Given the description of an element on the screen output the (x, y) to click on. 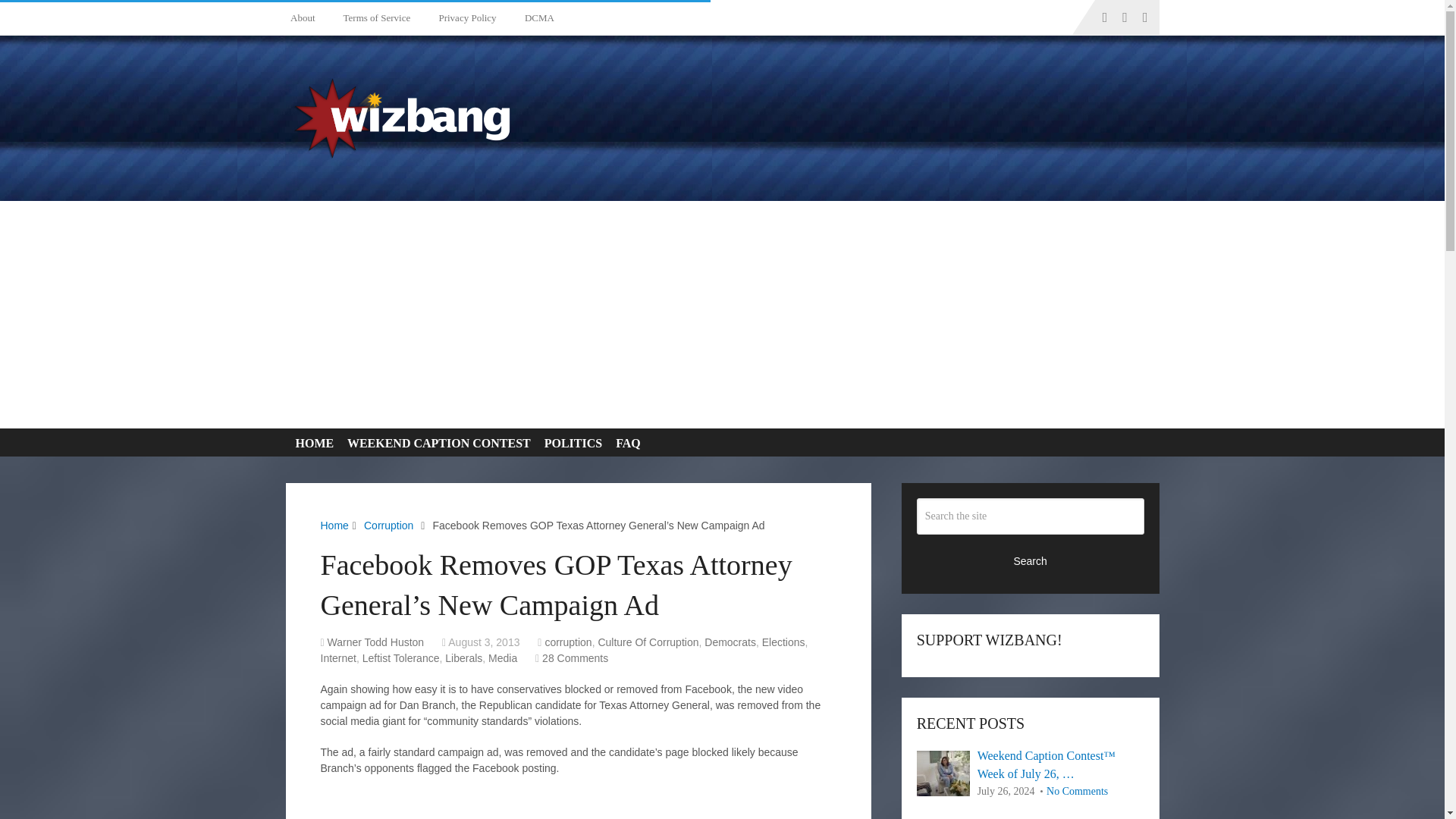
Internet (337, 657)
Liberals (463, 657)
View all posts in Internet (337, 657)
View all posts in Elections (783, 642)
View all posts in Culture Of Corruption (647, 642)
View all posts in corruption (567, 642)
Corruption (388, 525)
About (305, 17)
Culture Of Corruption (647, 642)
Elections (783, 642)
Privacy Policy (464, 17)
POLITICS (569, 443)
View all posts in Leftist Tolerance (400, 657)
Posts by Warner Todd Huston (376, 642)
View all posts in Liberals (463, 657)
